Given the description of an element on the screen output the (x, y) to click on. 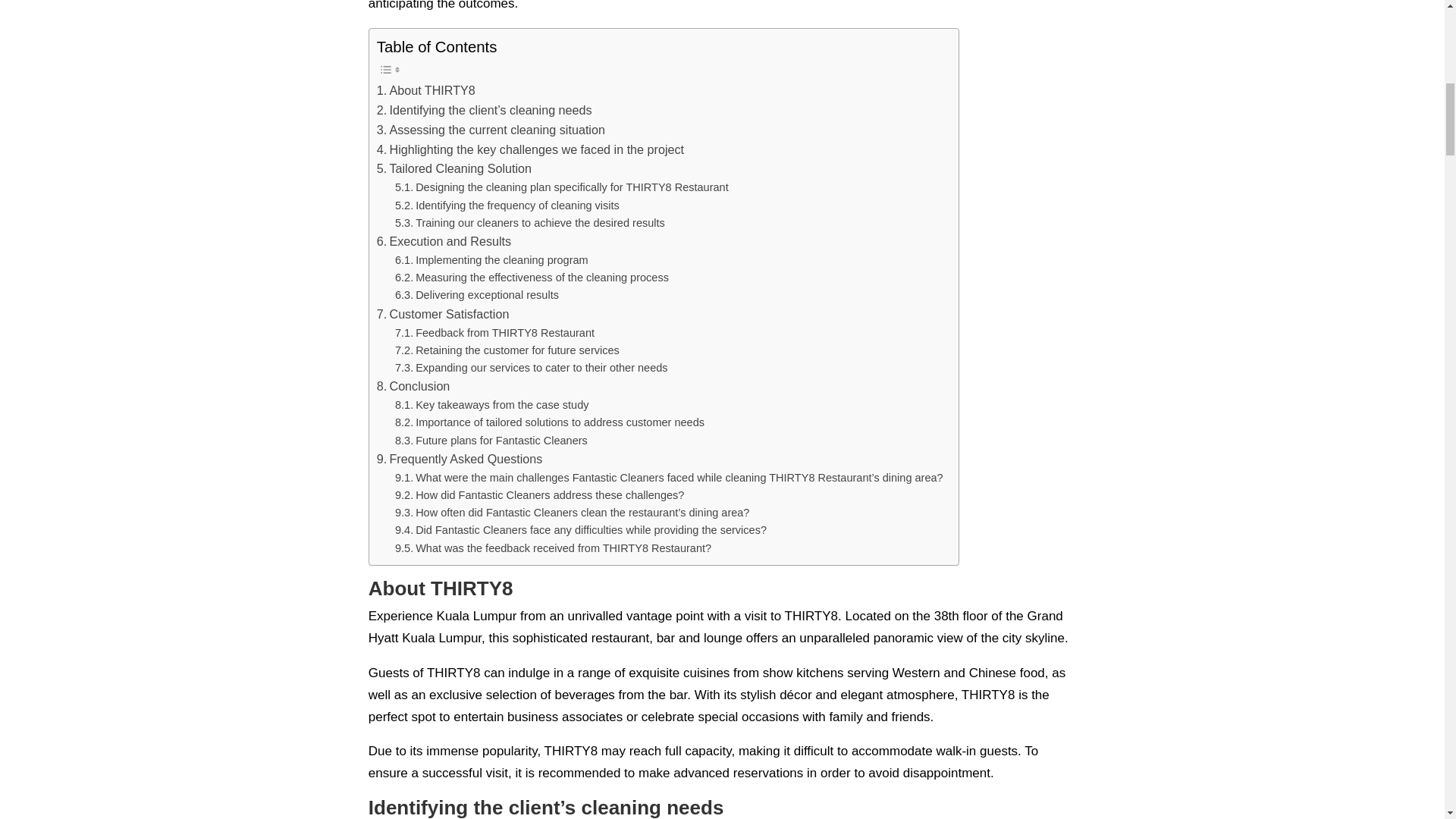
Tailored Cleaning Solution (454, 168)
About THIRTY8 (426, 90)
Identifying the frequency of cleaning visits (507, 205)
Implementing the cleaning program (491, 260)
Assessing the current cleaning situation (491, 130)
About THIRTY8 (426, 90)
Tailored Cleaning Solution (454, 168)
Assessing the current cleaning situation (491, 130)
Measuring the effectiveness of the cleaning process (531, 277)
